Given the description of an element on the screen output the (x, y) to click on. 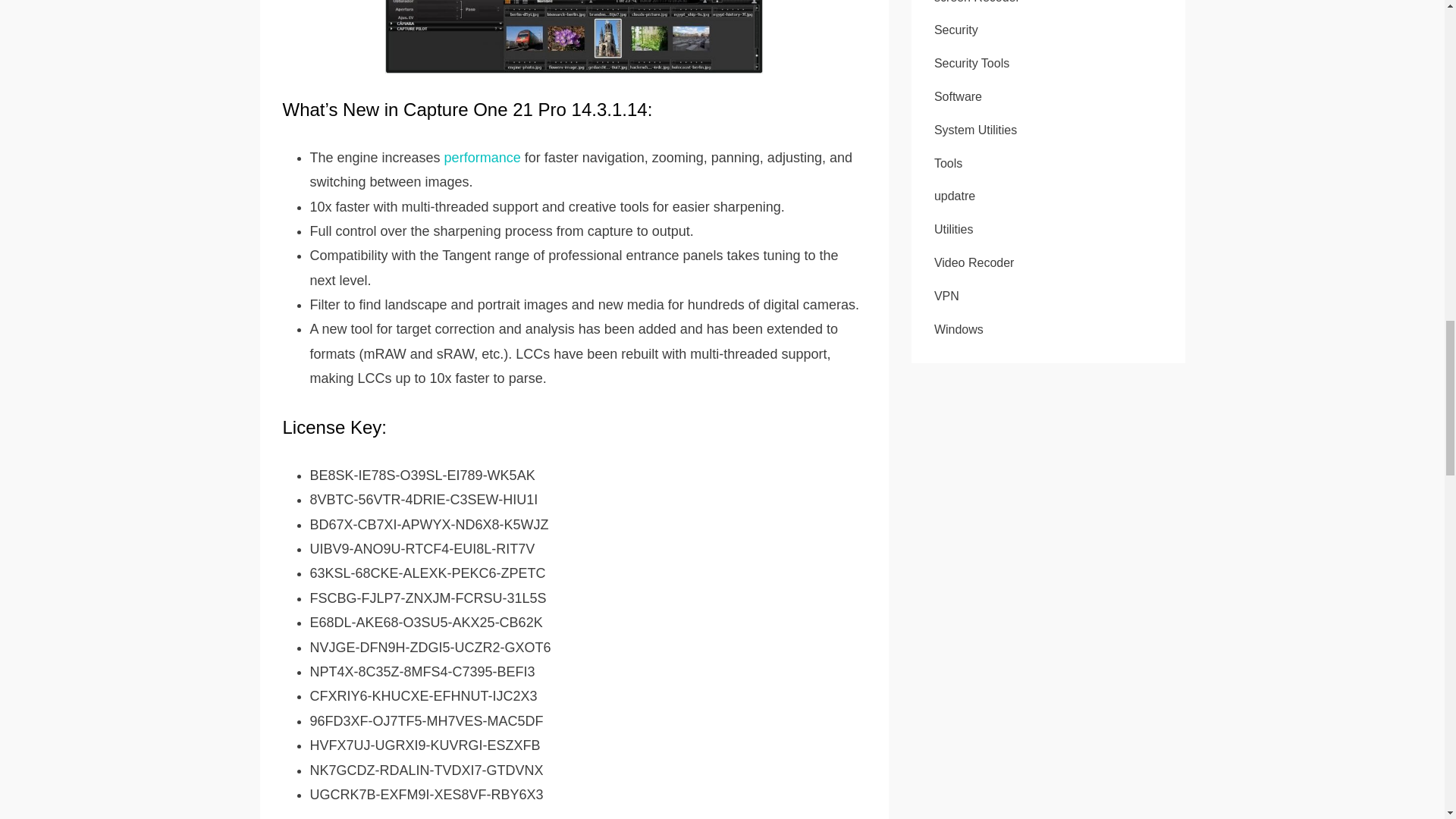
performance (481, 157)
